Given the description of an element on the screen output the (x, y) to click on. 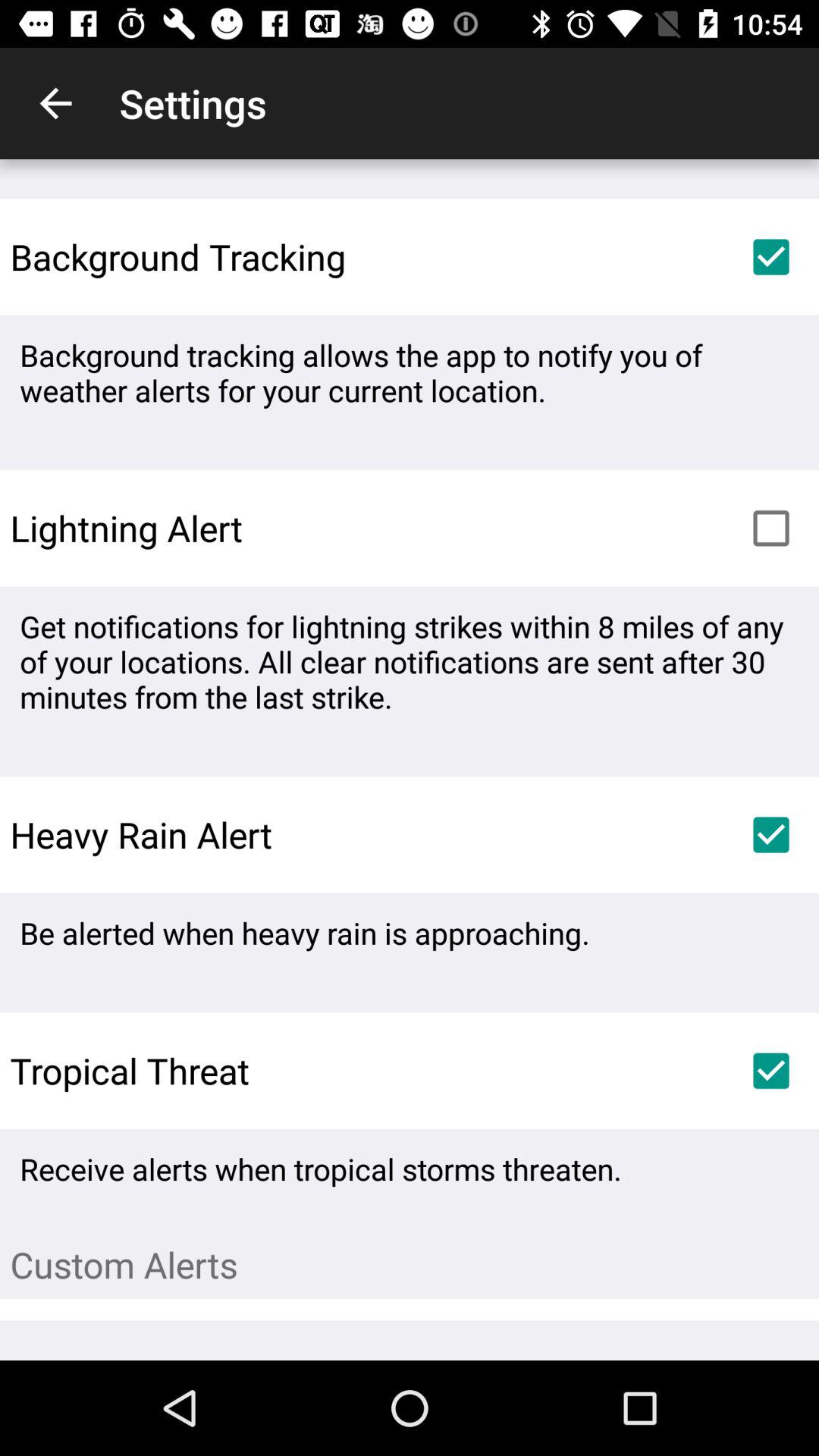
tropical threat on (771, 1070)
